Given the description of an element on the screen output the (x, y) to click on. 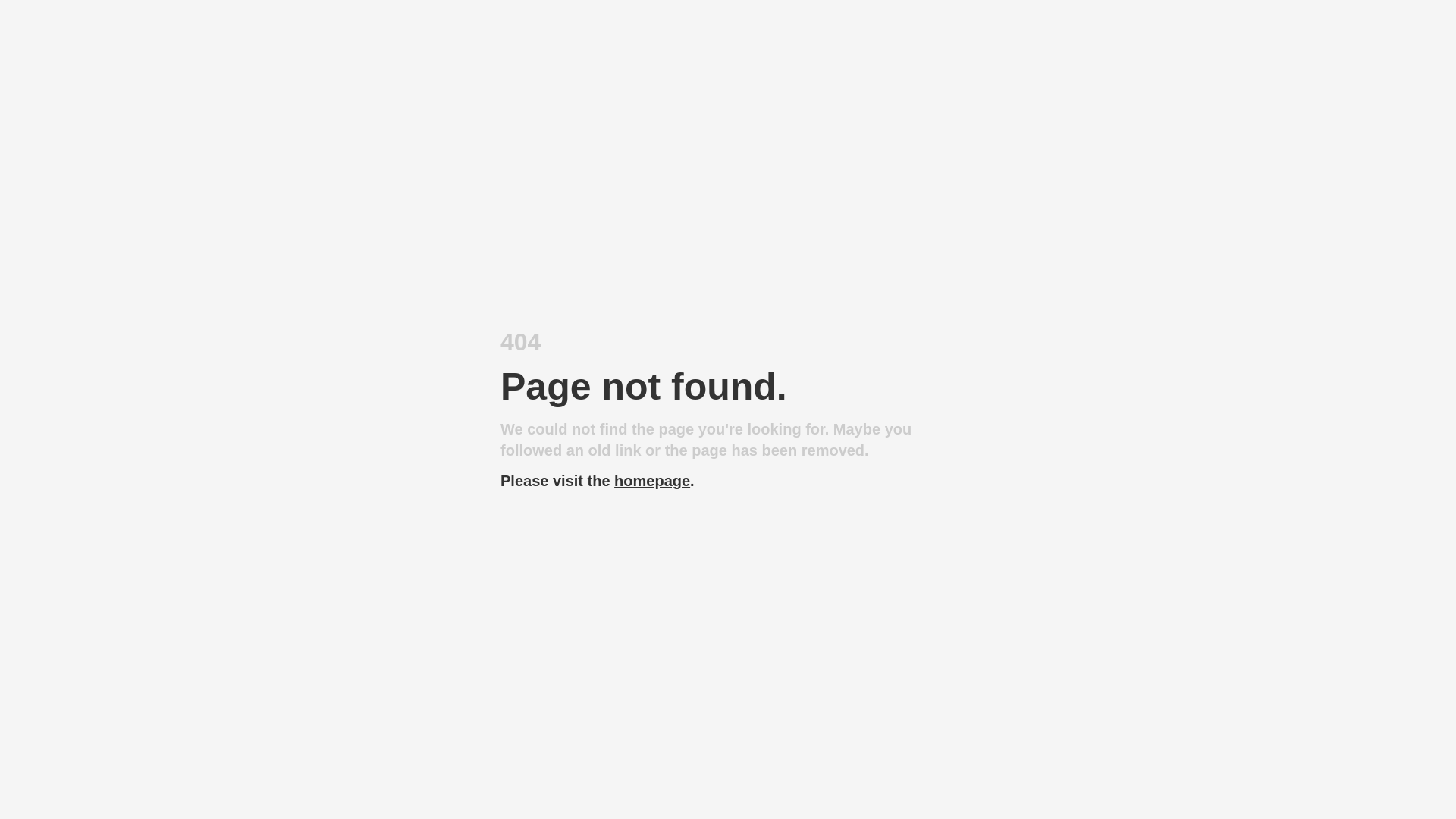
homepage Element type: text (652, 480)
